Given the description of an element on the screen output the (x, y) to click on. 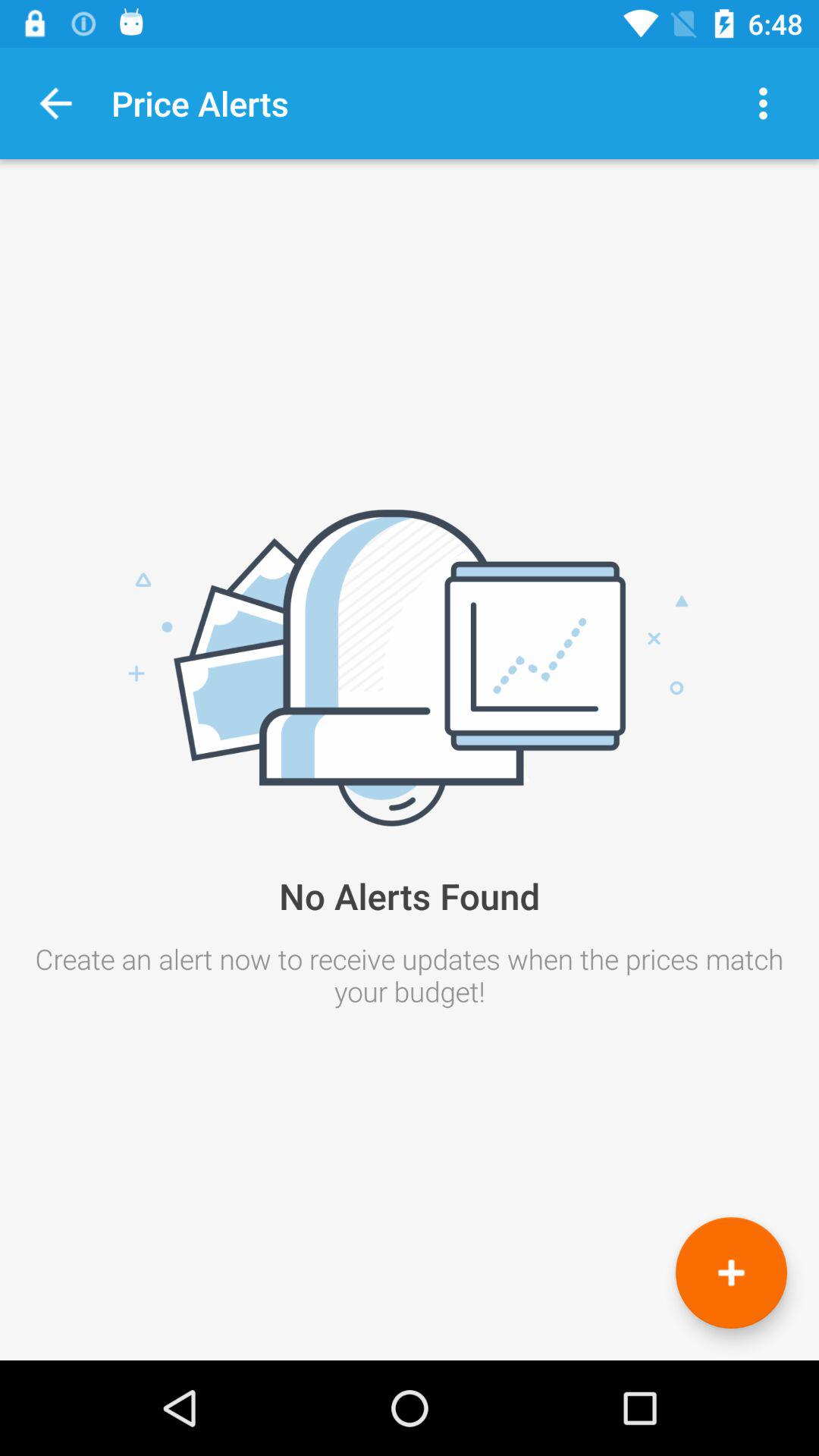
press icon above the no alerts found item (763, 103)
